Given the description of an element on the screen output the (x, y) to click on. 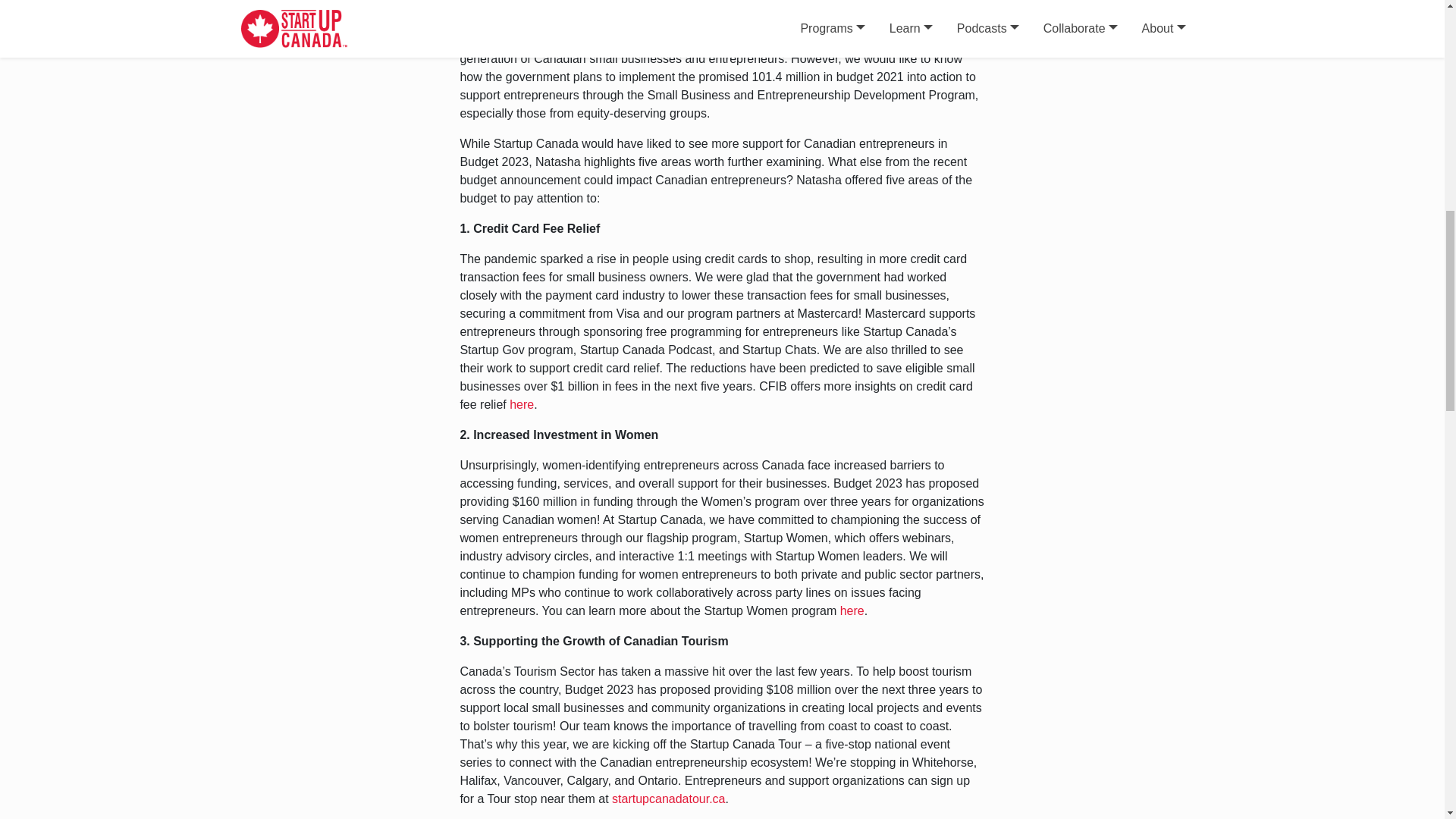
startupcanadatour.ca (668, 798)
here (521, 404)
here (852, 610)
